Given the description of an element on the screen output the (x, y) to click on. 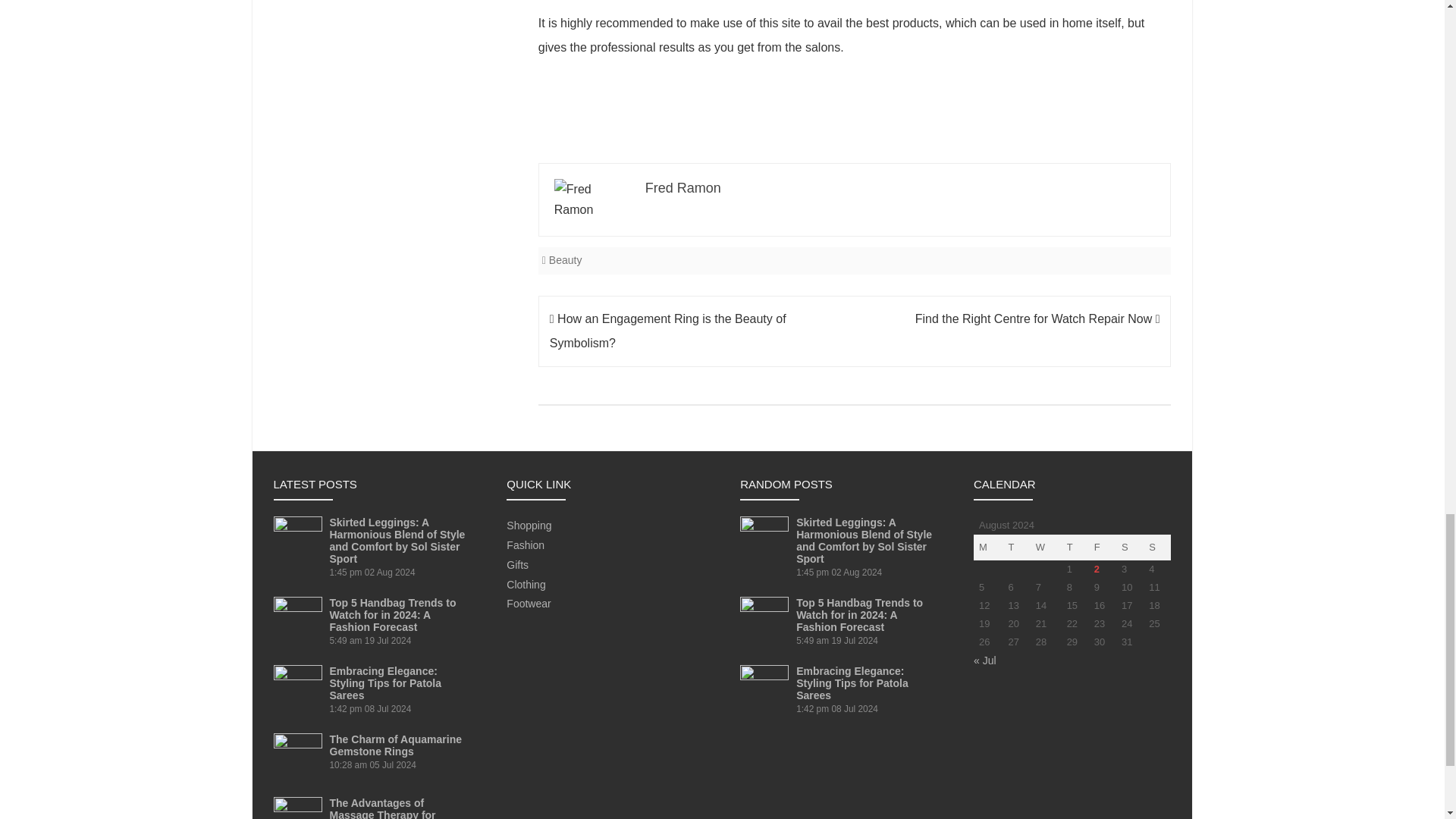
Monday (988, 547)
Beauty (565, 259)
Sunday (1156, 547)
Saturday (1129, 547)
Tuesday (1016, 547)
Friday (1102, 547)
Fred Ramon (682, 187)
How an Engagement Ring is the Beauty of Symbolism? (668, 330)
Find the Right Centre for Watch Repair Now (1037, 318)
Thursday (1075, 547)
Wednesday (1045, 547)
